Given the description of an element on the screen output the (x, y) to click on. 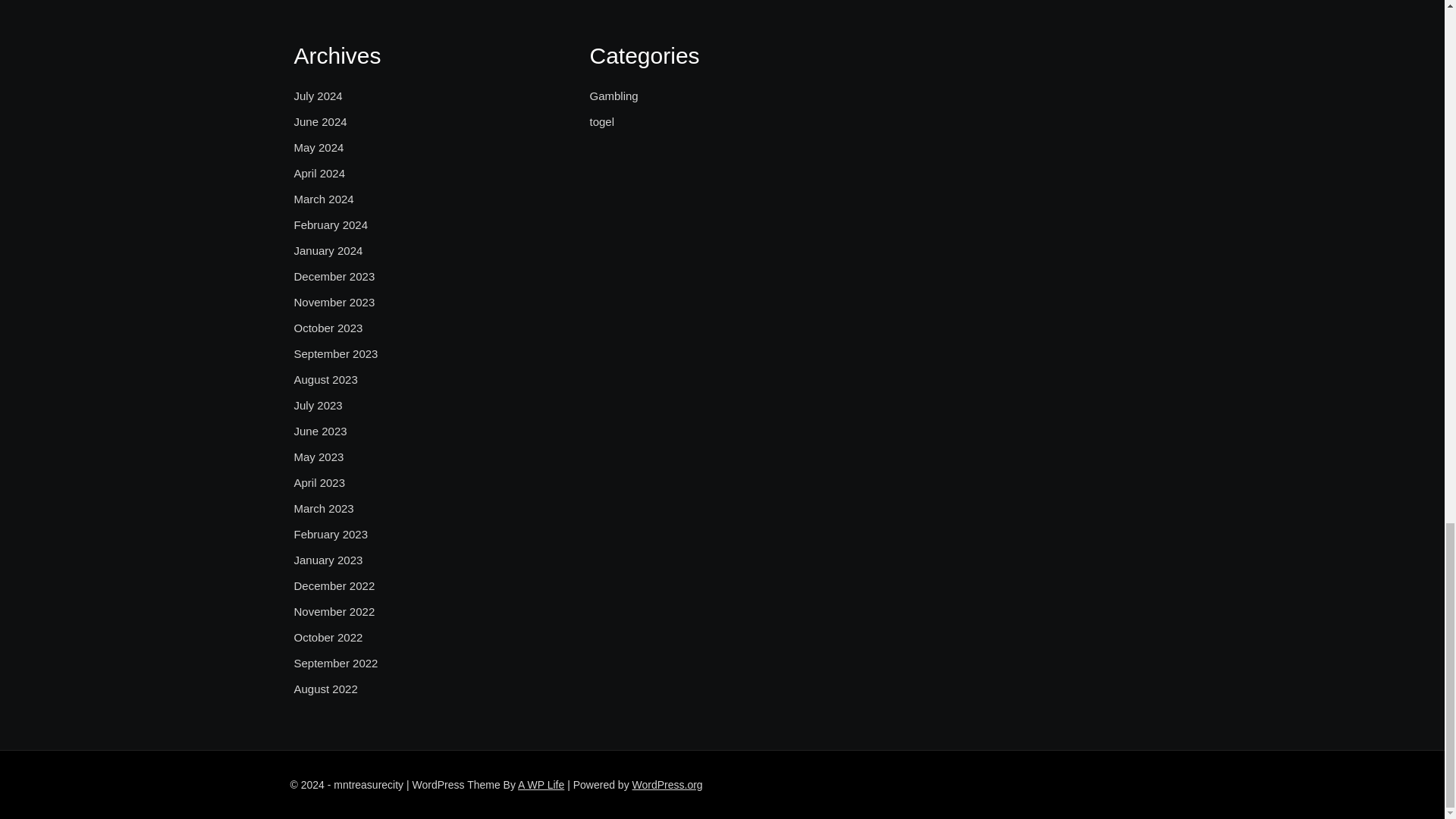
October 2023 (328, 328)
March 2024 (323, 199)
September 2023 (336, 353)
April 2023 (320, 483)
June 2023 (320, 431)
May 2023 (318, 456)
July 2024 (318, 95)
August 2023 (326, 380)
May 2024 (318, 147)
January 2024 (328, 250)
June 2024 (320, 122)
November 2023 (334, 302)
January 2023 (328, 560)
July 2023 (318, 405)
December 2022 (334, 586)
